Given the description of an element on the screen output the (x, y) to click on. 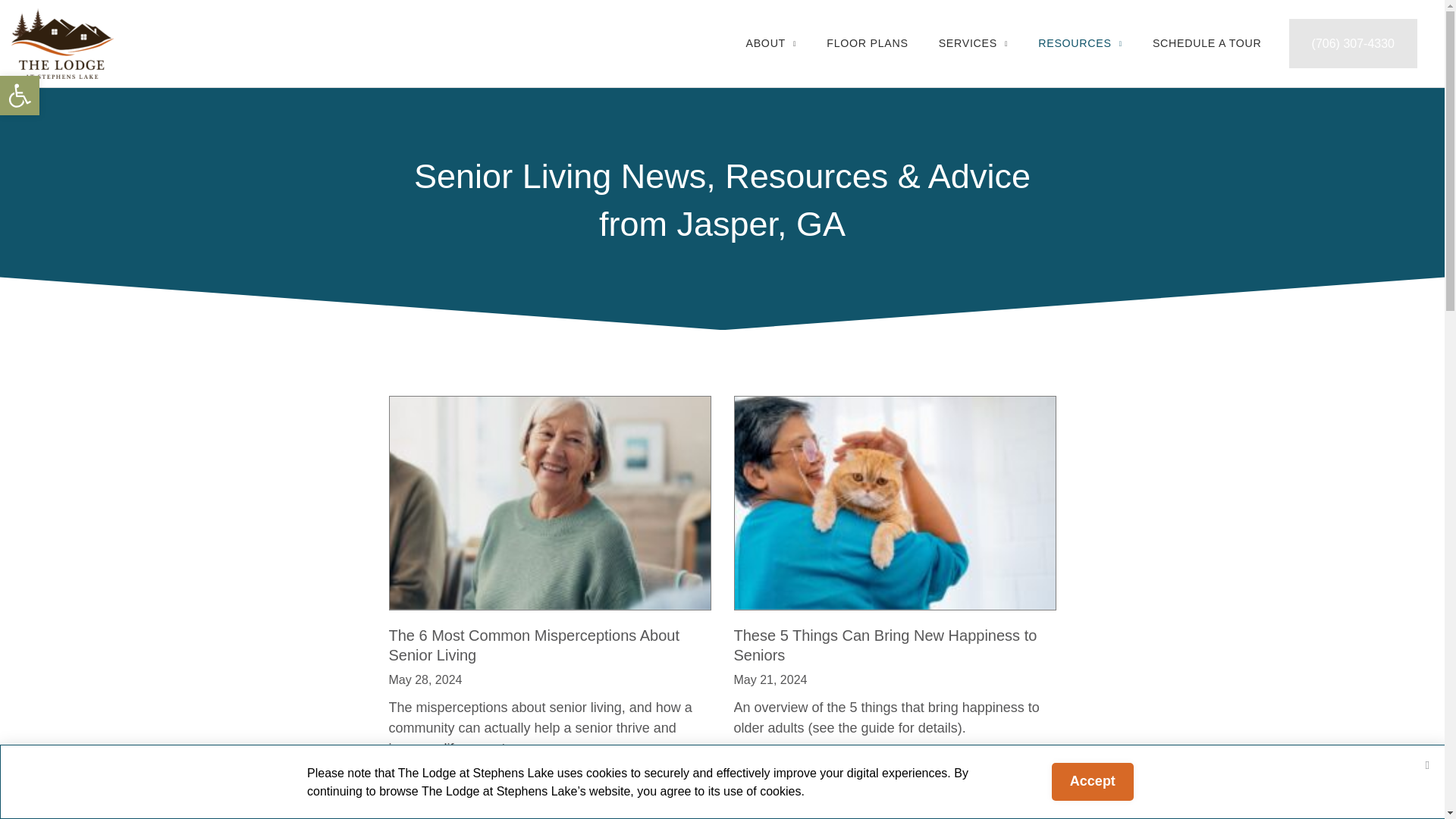
SERVICES (973, 43)
ABOUT (770, 43)
Accessibility Tools (19, 95)
These 5 Things Can Bring New Happiness to Seniors (19, 95)
The 6 Most Common Misperceptions About Senior Living (884, 644)
RESOURCES (533, 644)
Accessibility Tools (1080, 43)
FLOOR PLANS (19, 95)
SCHEDULE A TOUR (866, 43)
